Given the description of an element on the screen output the (x, y) to click on. 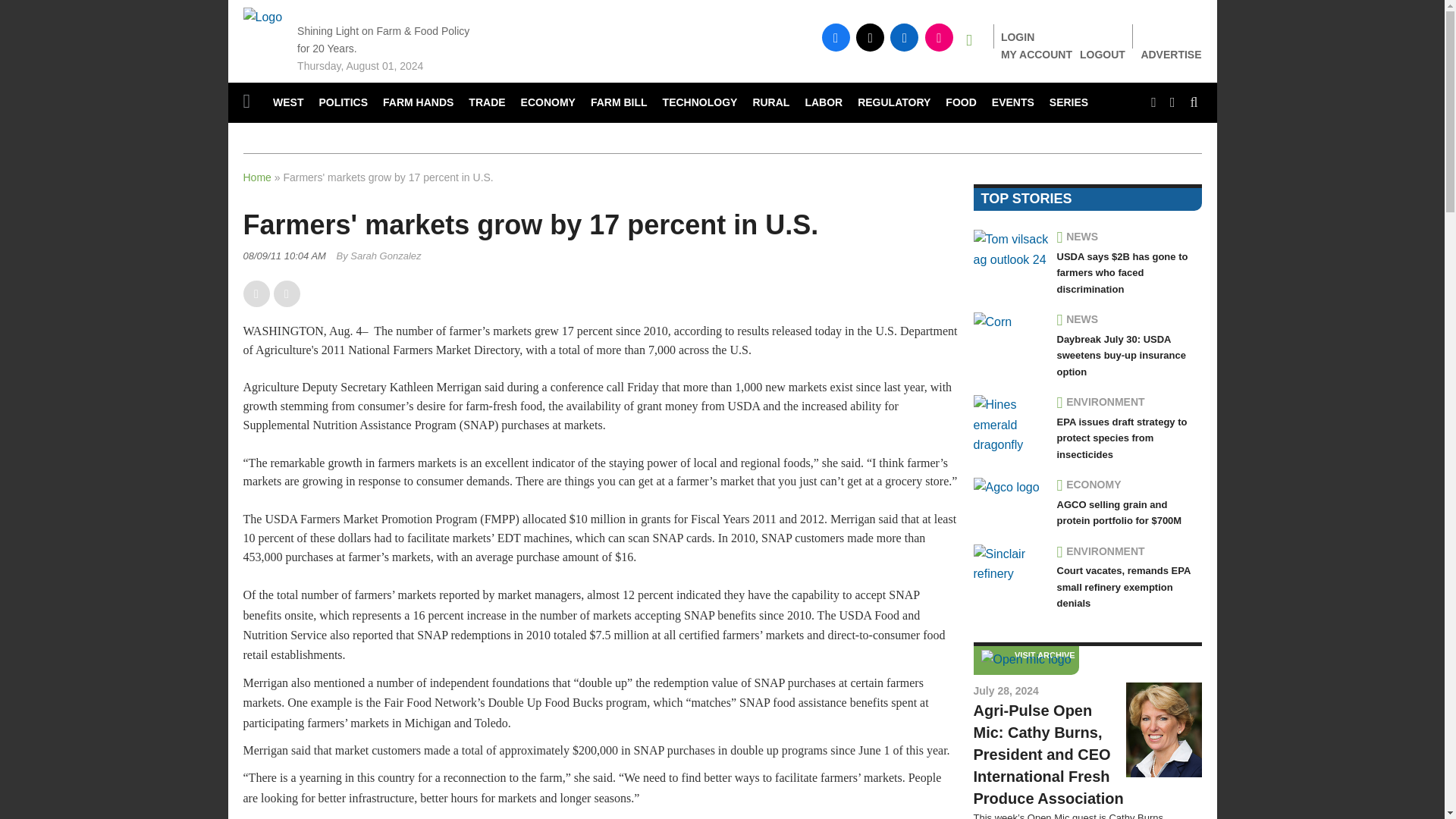
RURAL (770, 102)
POLITICS (343, 102)
FARM HANDS (418, 102)
LABOR (823, 102)
LOGOUT (1102, 54)
ADVERTISE (1170, 54)
MY ACCOUNT (1036, 54)
TECHNOLOGY (700, 102)
FARM BILL (619, 102)
ECONOMY (548, 102)
TRADE (486, 102)
FOOD (960, 102)
WEST (287, 102)
REGULATORY (893, 102)
EVENTS (1013, 102)
